Given the description of an element on the screen output the (x, y) to click on. 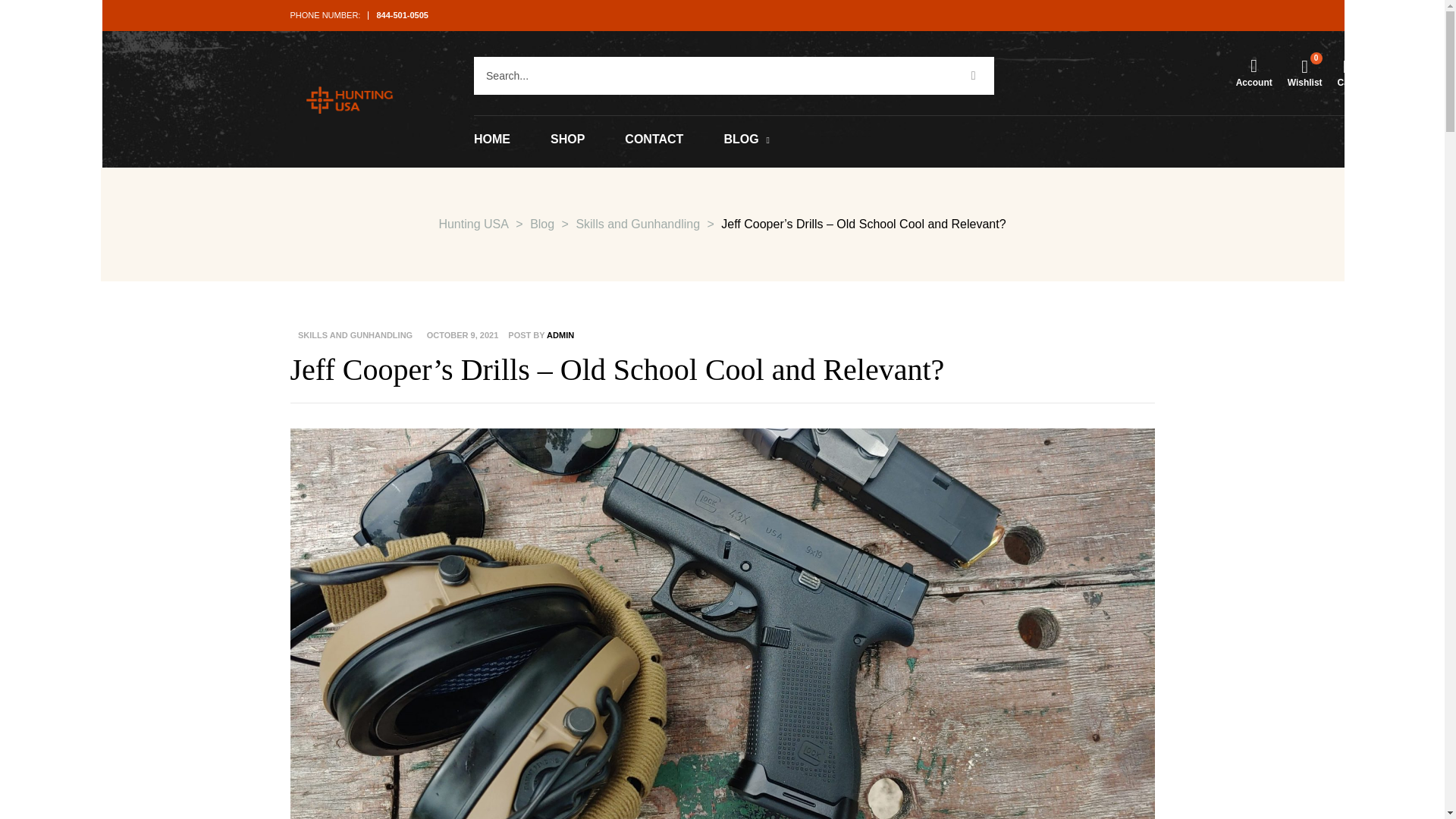
Go to Hunting USA. (473, 224)
Hunting USA (473, 224)
844-501-0505 (401, 15)
Search (713, 75)
Go to the Skills and Gunhandling category archives. (637, 224)
SKILLS AND GUNHANDLING (353, 335)
Skills and Gunhandling (637, 224)
OCTOBER 9, 2021 (462, 334)
CONTACT (653, 139)
Blog (541, 224)
HOME (492, 139)
ADMIN (560, 334)
Go to Blog. (541, 224)
BLOG (746, 139)
SHOP (567, 139)
